Given the description of an element on the screen output the (x, y) to click on. 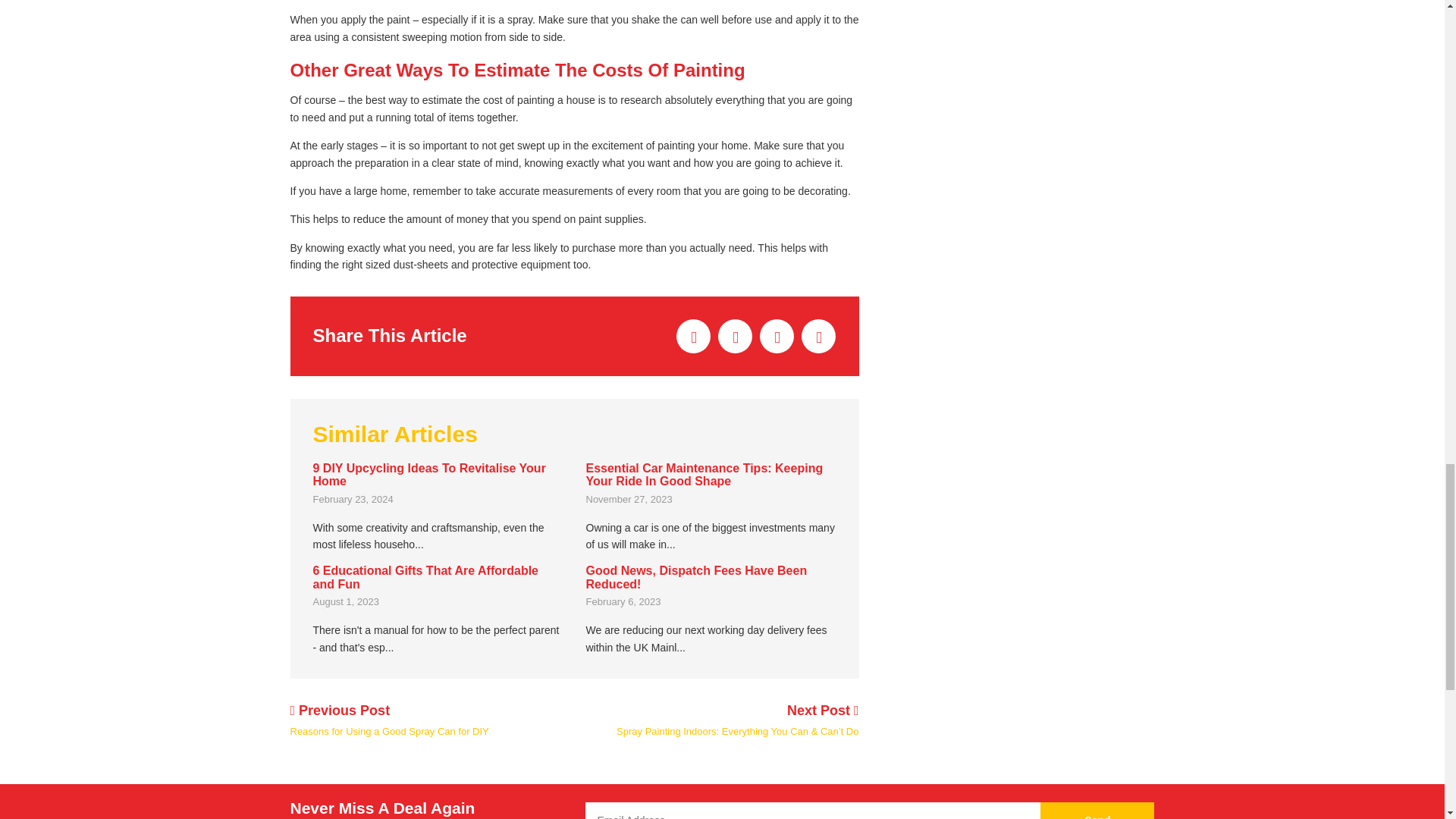
Send (1097, 810)
